Given the description of an element on the screen output the (x, y) to click on. 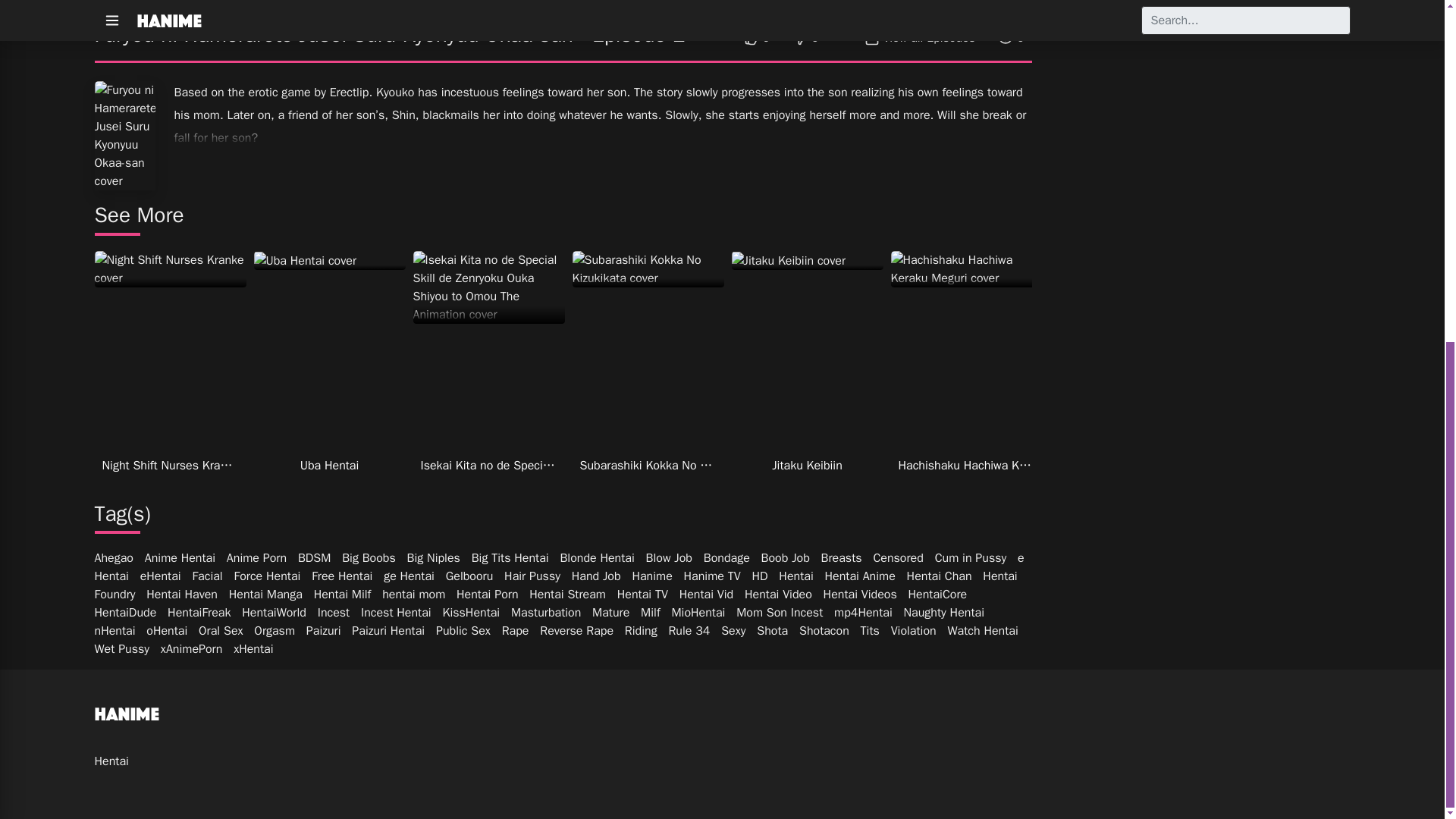
Hachishaku Hachiwa Keraku Meguri (965, 268)
Anime Hentai (179, 557)
Subarashiki Kokka No Kizukikata (647, 268)
Bondage (726, 557)
Breasts (841, 557)
Night Shift Nurses Kranke (170, 268)
Boob Job (785, 557)
Blonde Hentai (596, 557)
Anime Porn (256, 557)
0 (756, 37)
Blow Job (669, 557)
View all Episodes (920, 37)
Ahegao (113, 557)
0 (804, 37)
